Given the description of an element on the screen output the (x, y) to click on. 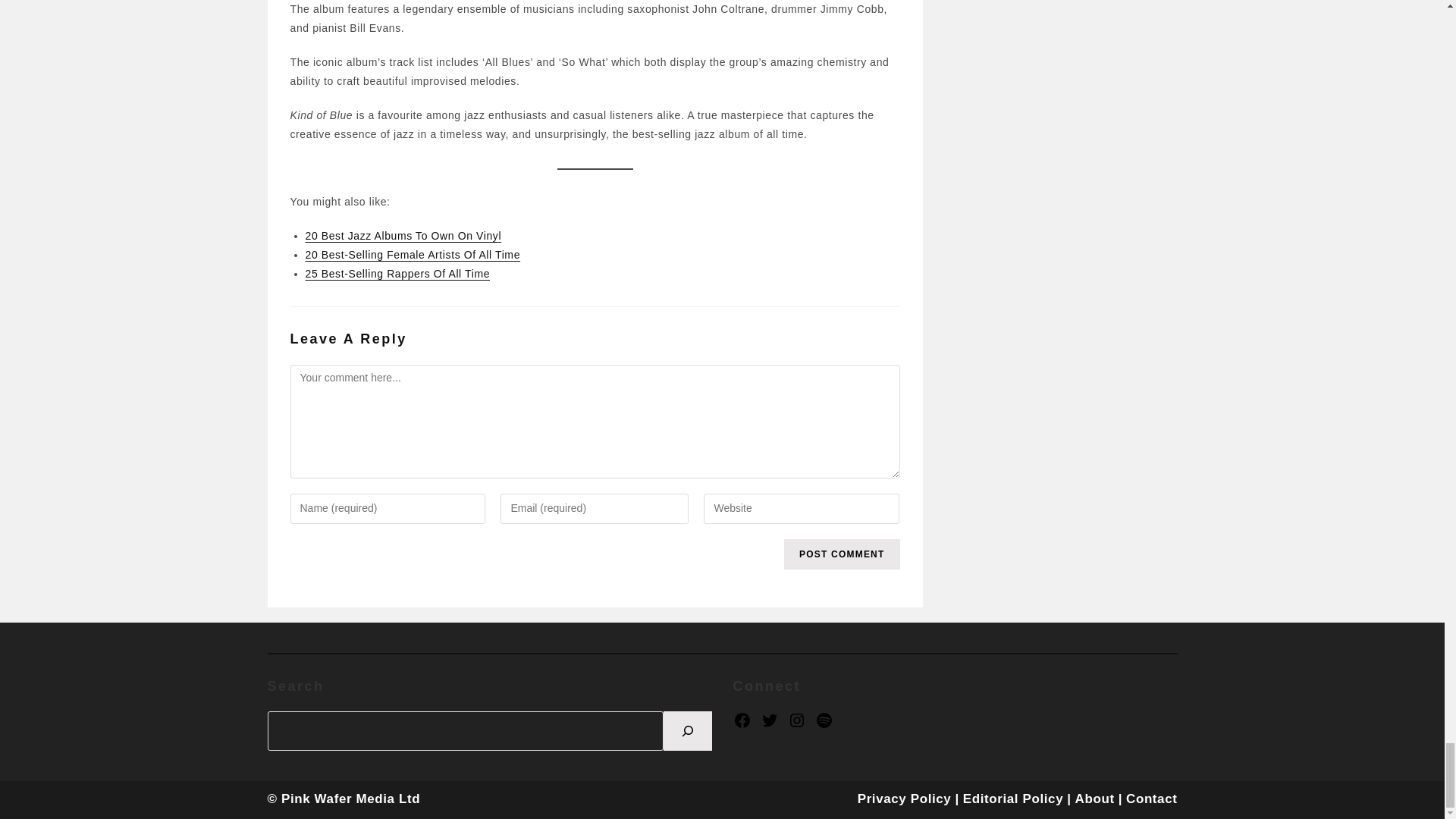
Privacy Policy (904, 798)
Instagram (796, 720)
20 Best-Selling Female Artists Of All Time (411, 254)
Facebook (741, 720)
25 Best-Selling Rappers Of All Time (396, 273)
Post Comment (841, 553)
20 Best Jazz Albums To Own On Vinyl (402, 235)
Post Comment (841, 553)
Spotify (822, 720)
Twitter (768, 720)
